Given the description of an element on the screen output the (x, y) to click on. 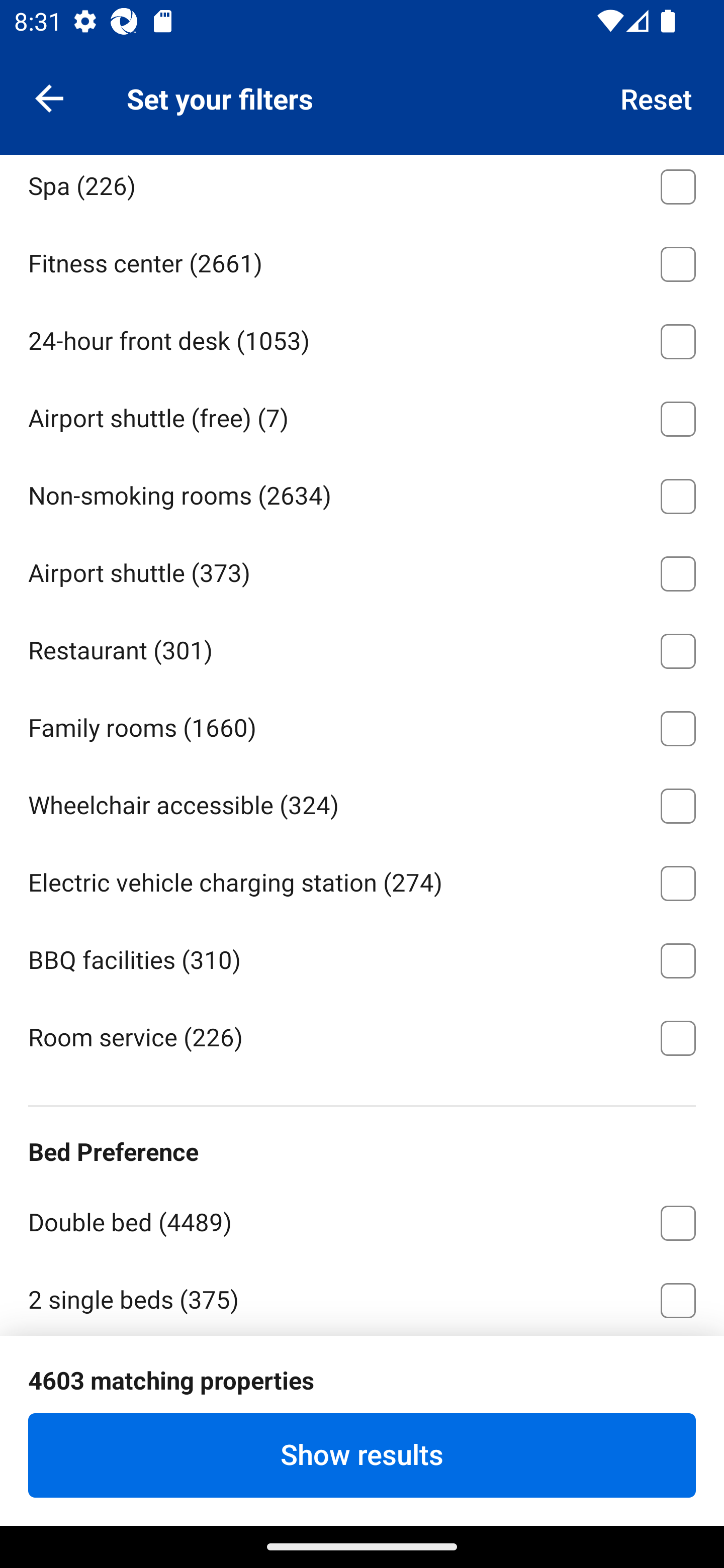
Navigate up (49, 97)
Reset (656, 97)
Parking ⁦(4337) (361, 105)
Spa ⁦(226) (361, 188)
Fitness center ⁦(2661) (361, 260)
24-hour front desk ⁦(1053) (361, 337)
Airport shuttle (free) ⁦(7) (361, 415)
Non-smoking rooms ⁦(2634) (361, 492)
Airport shuttle ⁦(373) (361, 569)
Restaurant ⁦(301) (361, 647)
Family rooms ⁦(1660) (361, 724)
Wheelchair accessible ⁦(324) (361, 802)
Electric vehicle charging station ⁦(274) (361, 880)
BBQ facilities ⁦(310) (361, 956)
Room service ⁦(226) (361, 1036)
Double bed ⁦(4489) (361, 1219)
2 single beds ⁦(375) (361, 1297)
Show results (361, 1454)
